Given the description of an element on the screen output the (x, y) to click on. 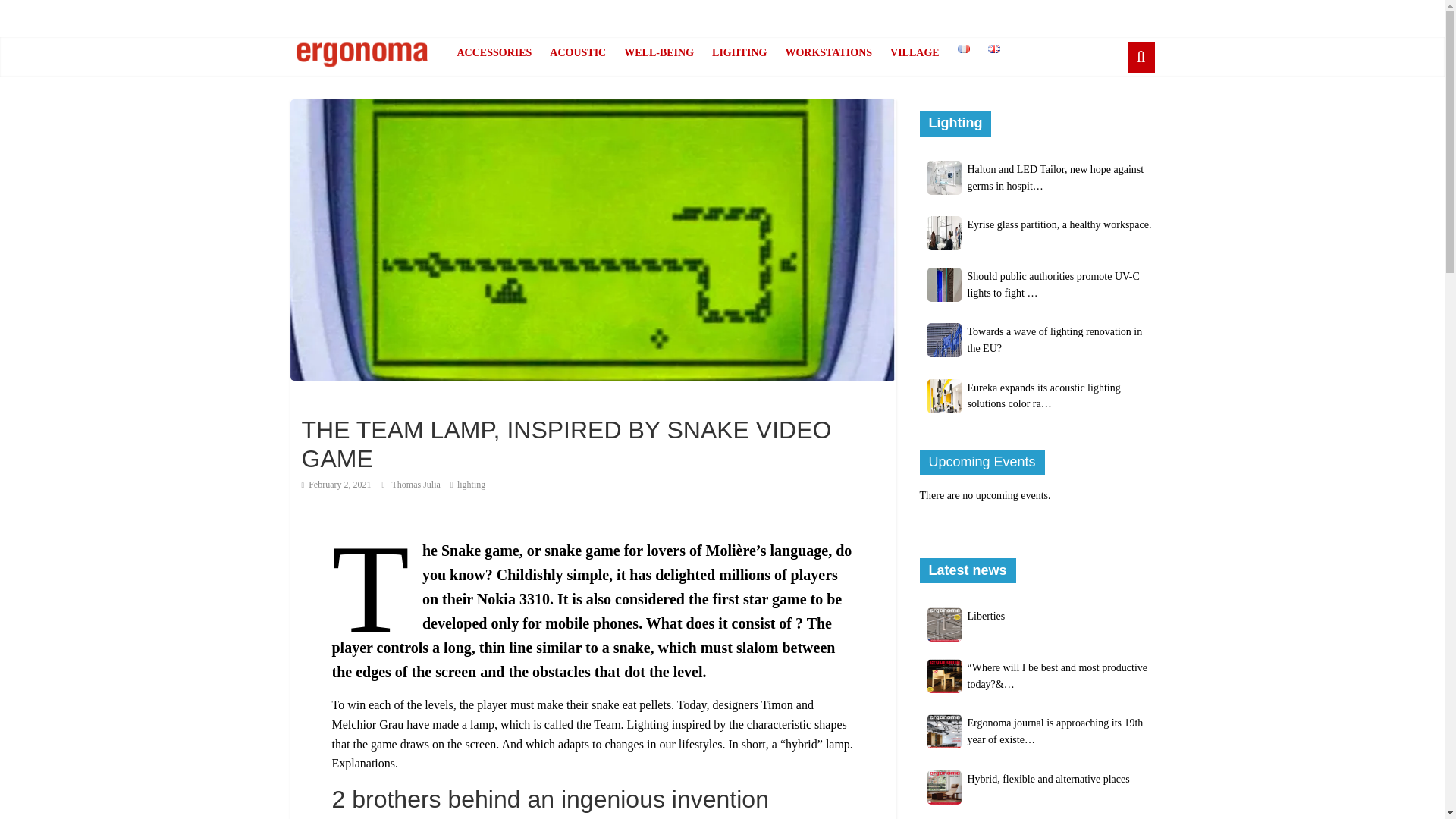
WELL-BEING (658, 52)
Thomas Julia (416, 484)
ACCESSORIES (493, 52)
ACOUSTIC (577, 52)
February 2, 2021 (336, 484)
VILLAGE (914, 52)
LIGHTING (739, 52)
WORKSTATIONS (828, 52)
lighting (470, 484)
9:10 am (336, 484)
Thomas Julia (416, 484)
